Given the description of an element on the screen output the (x, y) to click on. 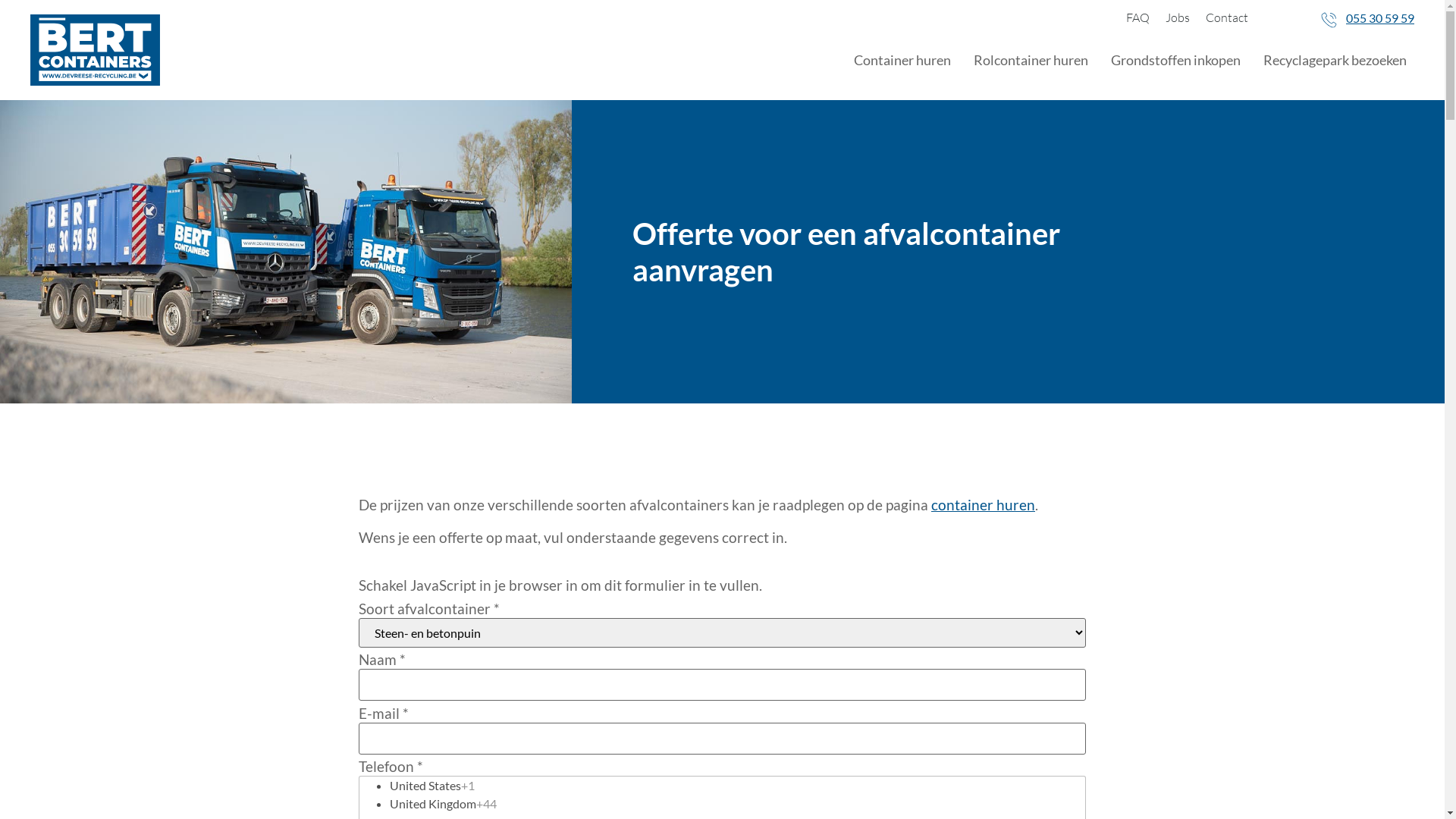
container huren Element type: text (983, 504)
FAQ Element type: text (1137, 17)
055 30 59 59 Element type: text (1380, 17)
Contact Element type: text (1226, 17)
Rolcontainer huren Element type: text (1030, 59)
Grondstoffen inkopen Element type: text (1175, 59)
Container huren Element type: text (901, 59)
Recyclagepark bezoeken Element type: text (1334, 59)
Jobs Element type: text (1177, 17)
